Given the description of an element on the screen output the (x, y) to click on. 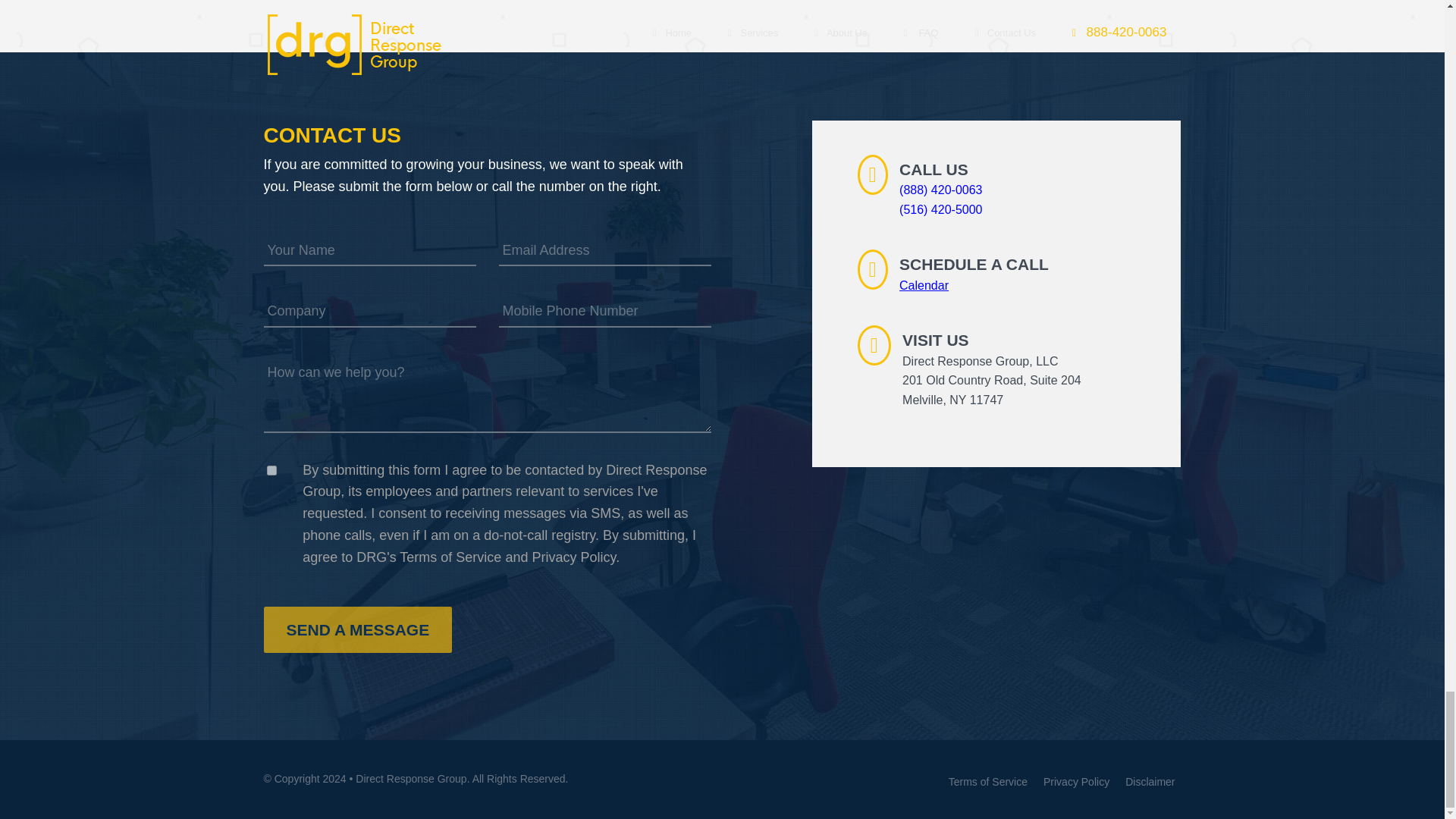
on (272, 470)
